Given the description of an element on the screen output the (x, y) to click on. 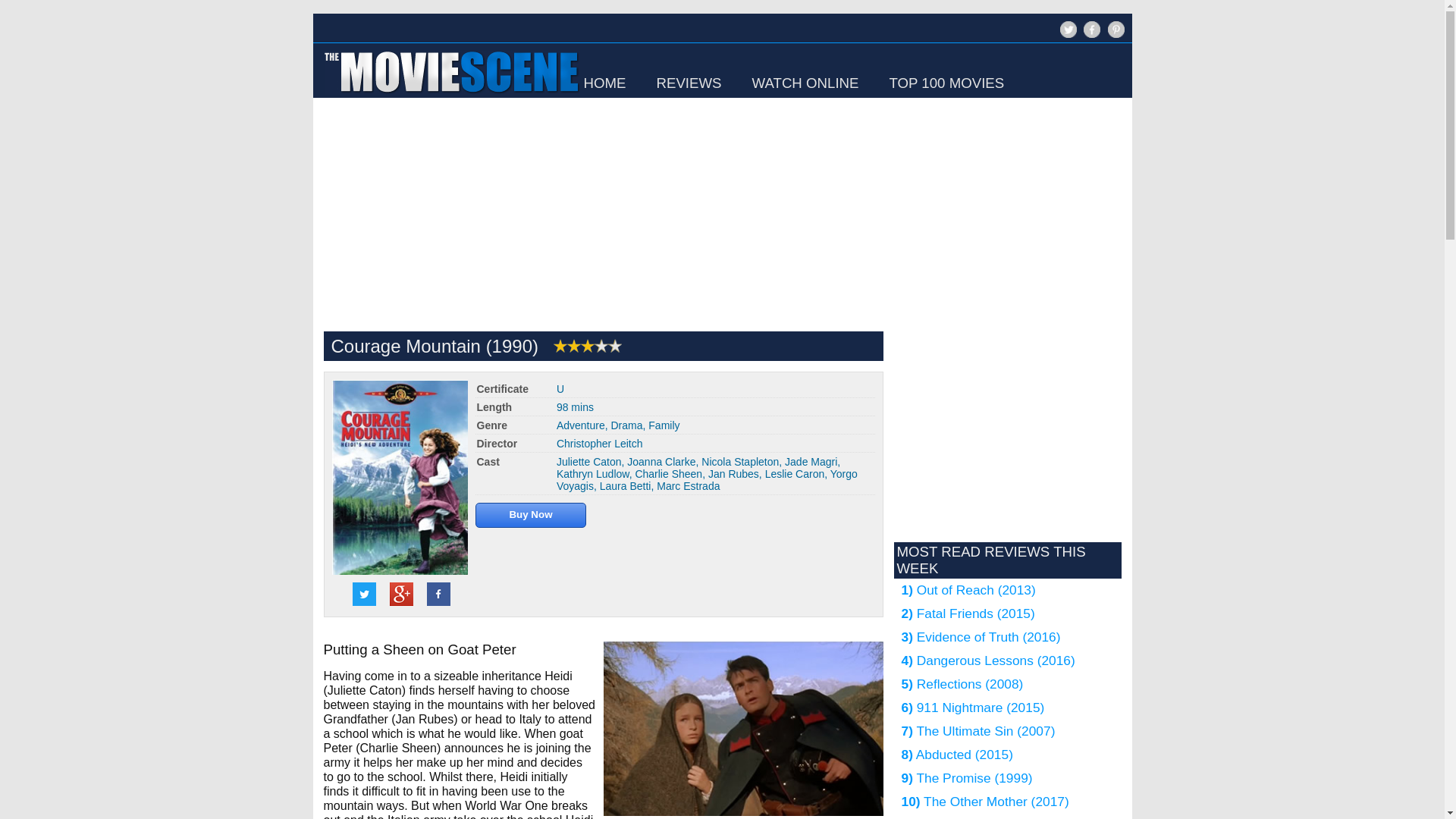
Laura Betti (624, 485)
Share on gplus (401, 594)
Drama (627, 425)
Christopher Leitch (599, 443)
Joanna Clarke (661, 461)
Like The Movie Scene on facebook (1091, 29)
Adventure  movies (580, 425)
Like The Movie Scene on facebook (1090, 37)
Jan Rubes (732, 473)
Charlie Sheen (667, 473)
Follow The Movie Scene on Pinterest (1113, 37)
Share on facebook (437, 594)
Leslie Caron (795, 473)
